Given the description of an element on the screen output the (x, y) to click on. 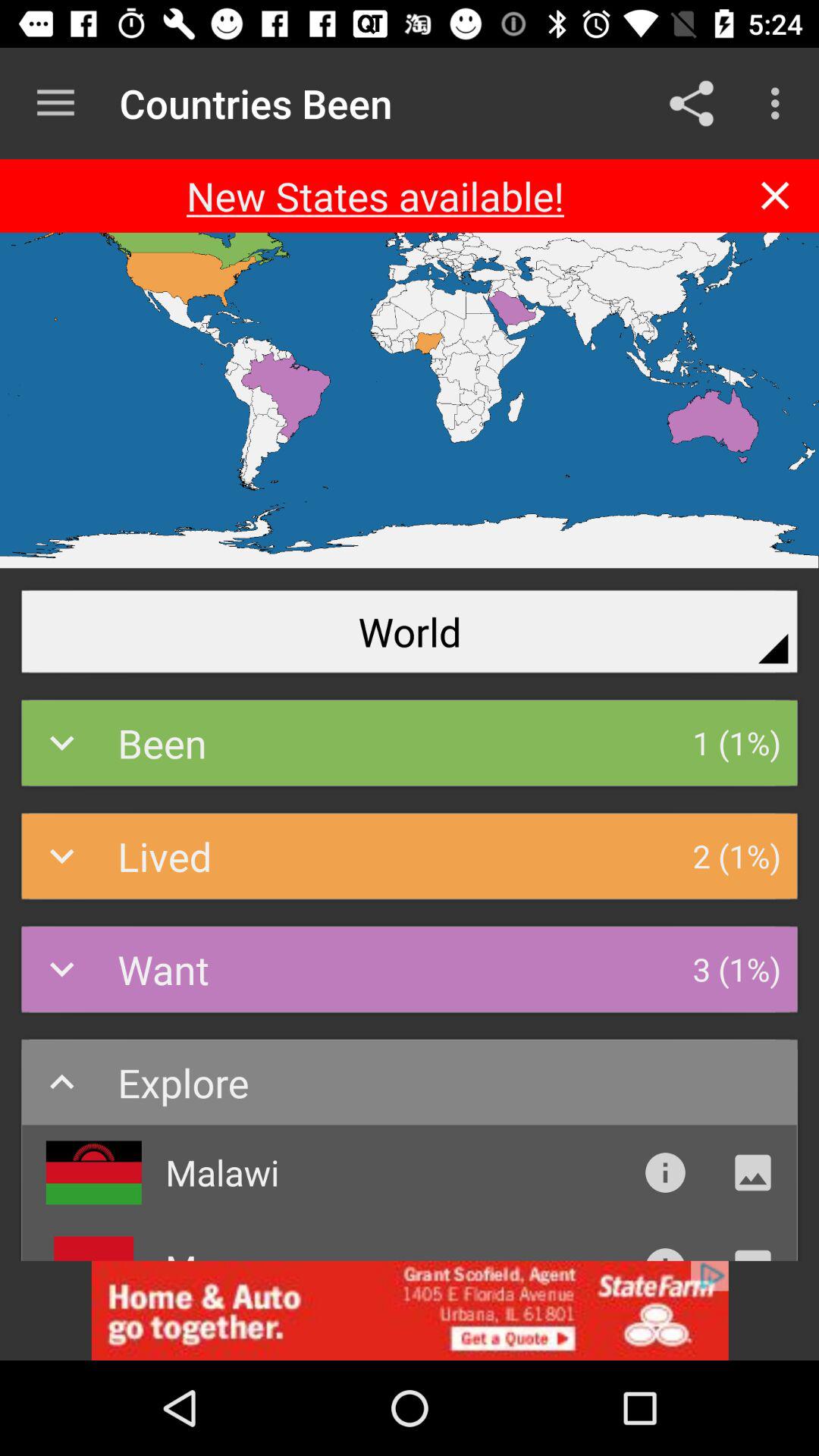
open picture gallery (752, 1172)
